Given the description of an element on the screen output the (x, y) to click on. 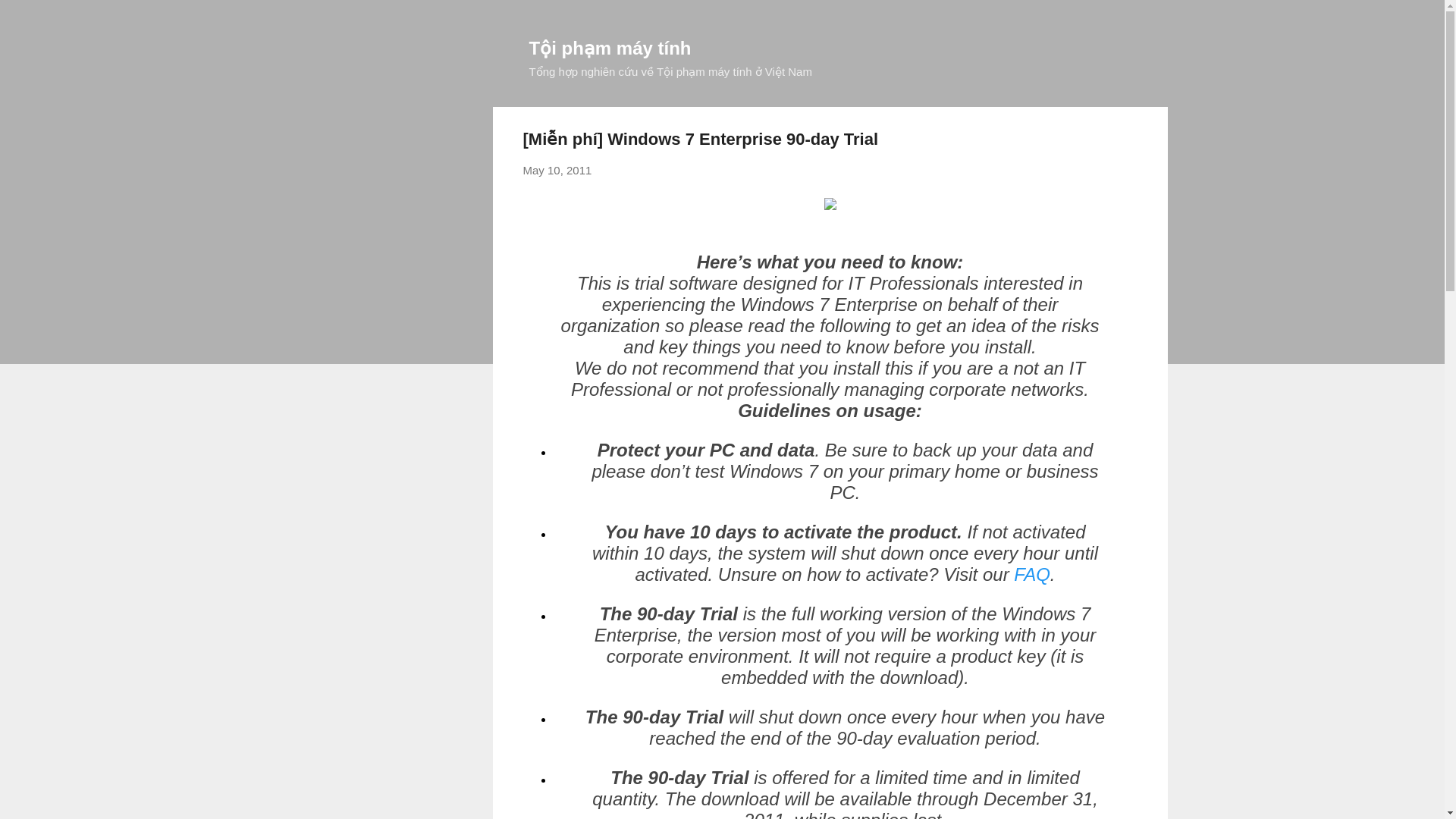
FAQ (1031, 574)
May 10, 2011 (557, 169)
permanent link (557, 169)
Search (29, 18)
